Given the description of an element on the screen output the (x, y) to click on. 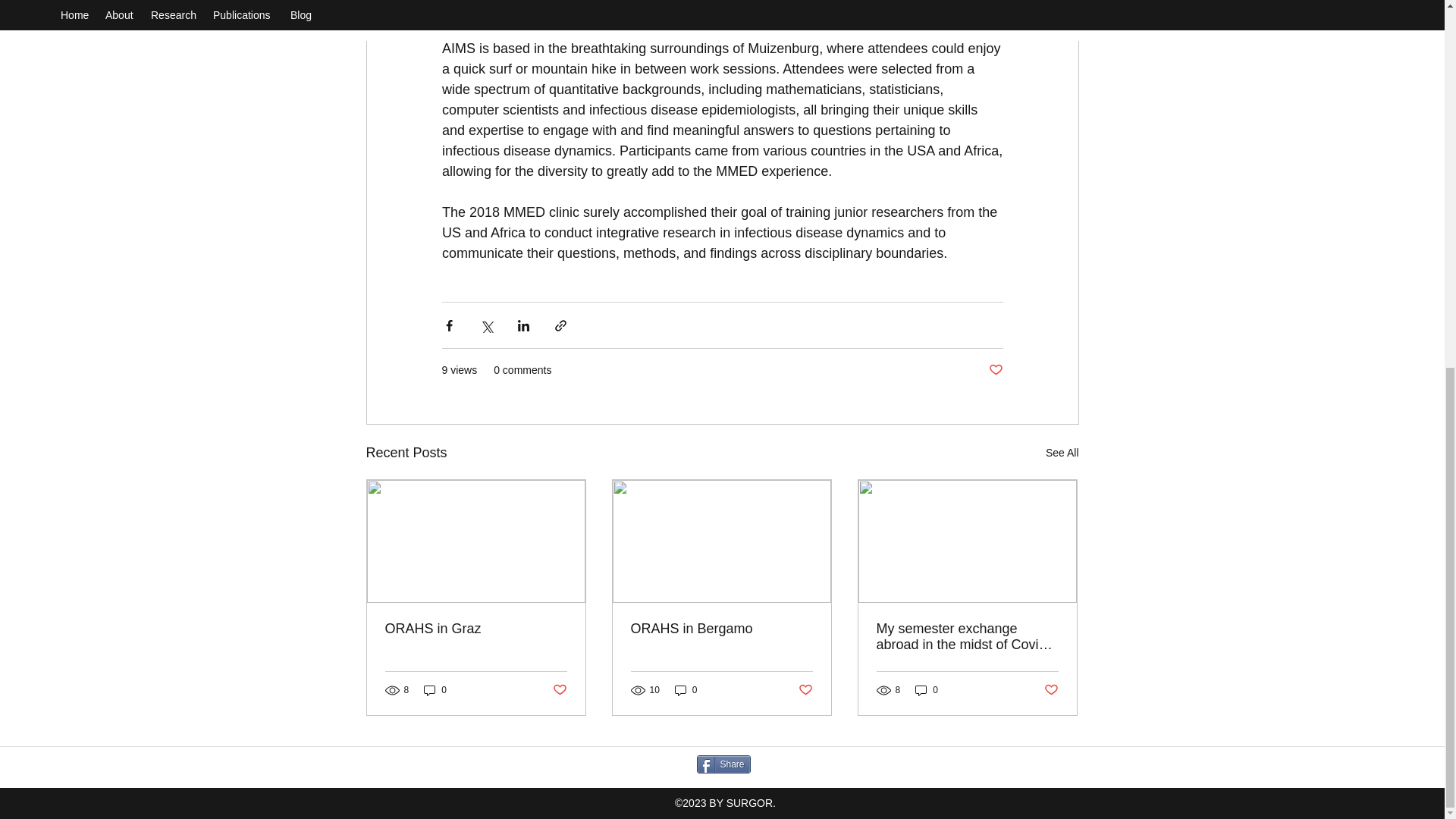
My semester exchange abroad in the midst of Covid-19 (967, 636)
ORAHS in Bergamo (721, 628)
Post not marked as liked (995, 370)
ORAHS in Graz (476, 628)
0 (435, 689)
Post not marked as liked (804, 690)
Share (722, 764)
0 (685, 689)
Share (722, 764)
Post not marked as liked (558, 690)
